Given the description of an element on the screen output the (x, y) to click on. 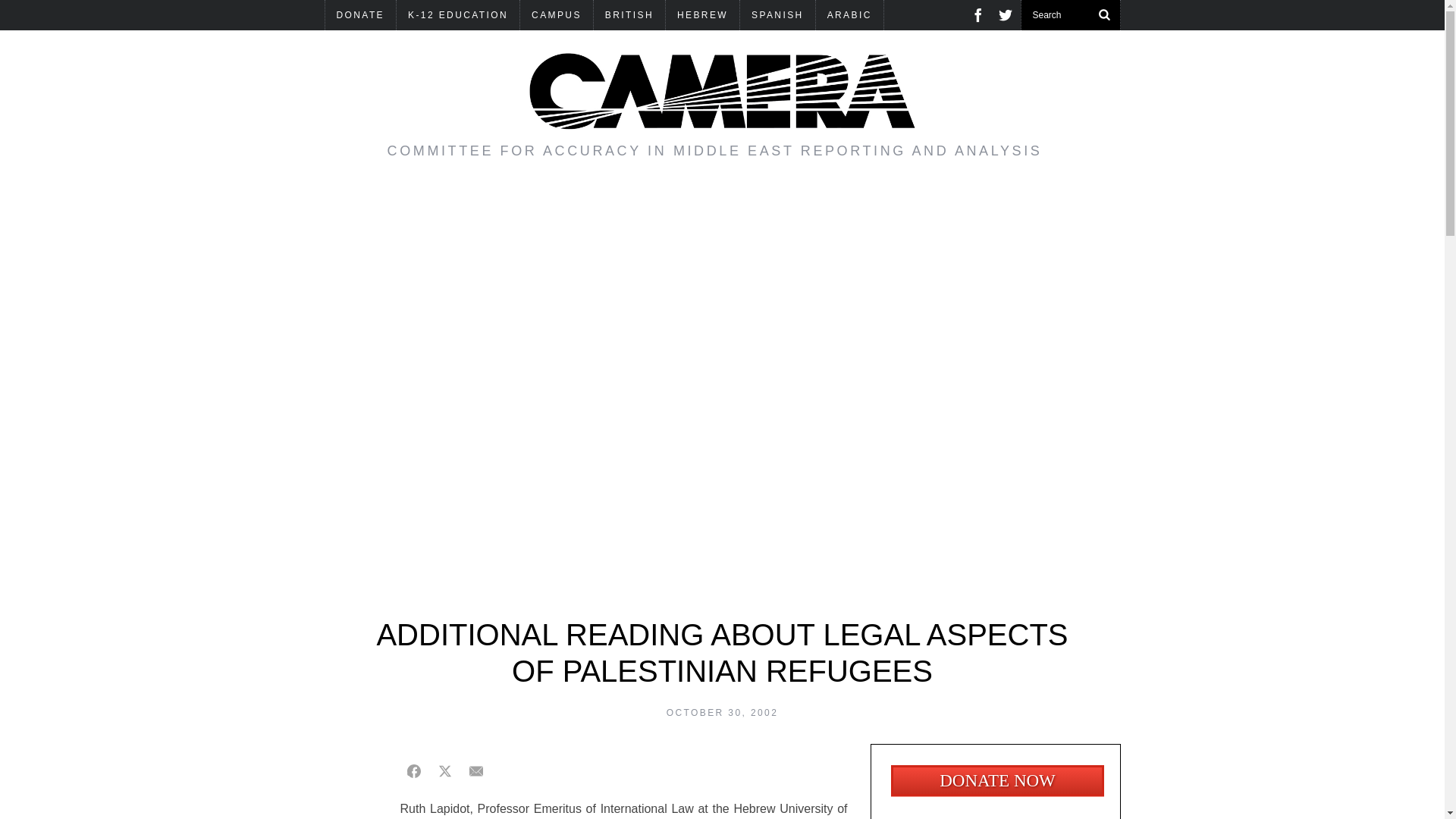
Share on Twitter (444, 770)
HEBREW (702, 14)
Search (1070, 15)
ARABIC (849, 14)
Share on Facebook (414, 770)
DONATE (360, 14)
Share on E-mail (476, 770)
SPANISH (777, 14)
K-12 EDUCATION (457, 14)
